Given the description of an element on the screen output the (x, y) to click on. 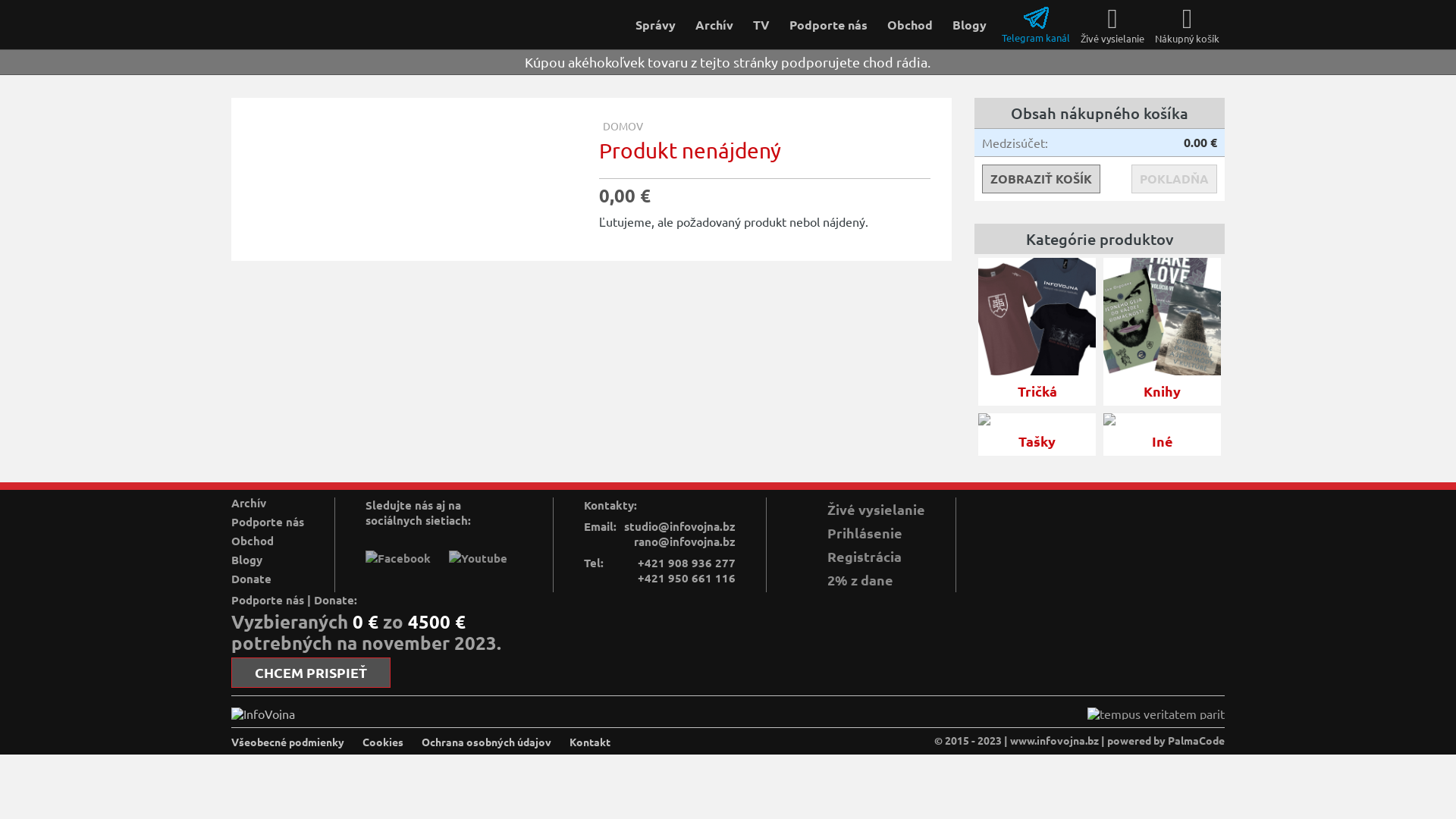
Knihy Element type: text (1161, 327)
Blogy Element type: text (246, 559)
2% z dane Element type: text (861, 579)
Obchod Element type: text (909, 24)
Blogy Element type: text (969, 24)
TV Element type: text (761, 24)
Obchod Element type: text (252, 540)
Cookies Element type: text (382, 741)
Donate Element type: text (251, 578)
Kontakt Element type: text (589, 741)
DOMOV Element type: text (622, 125)
